Given the description of an element on the screen output the (x, y) to click on. 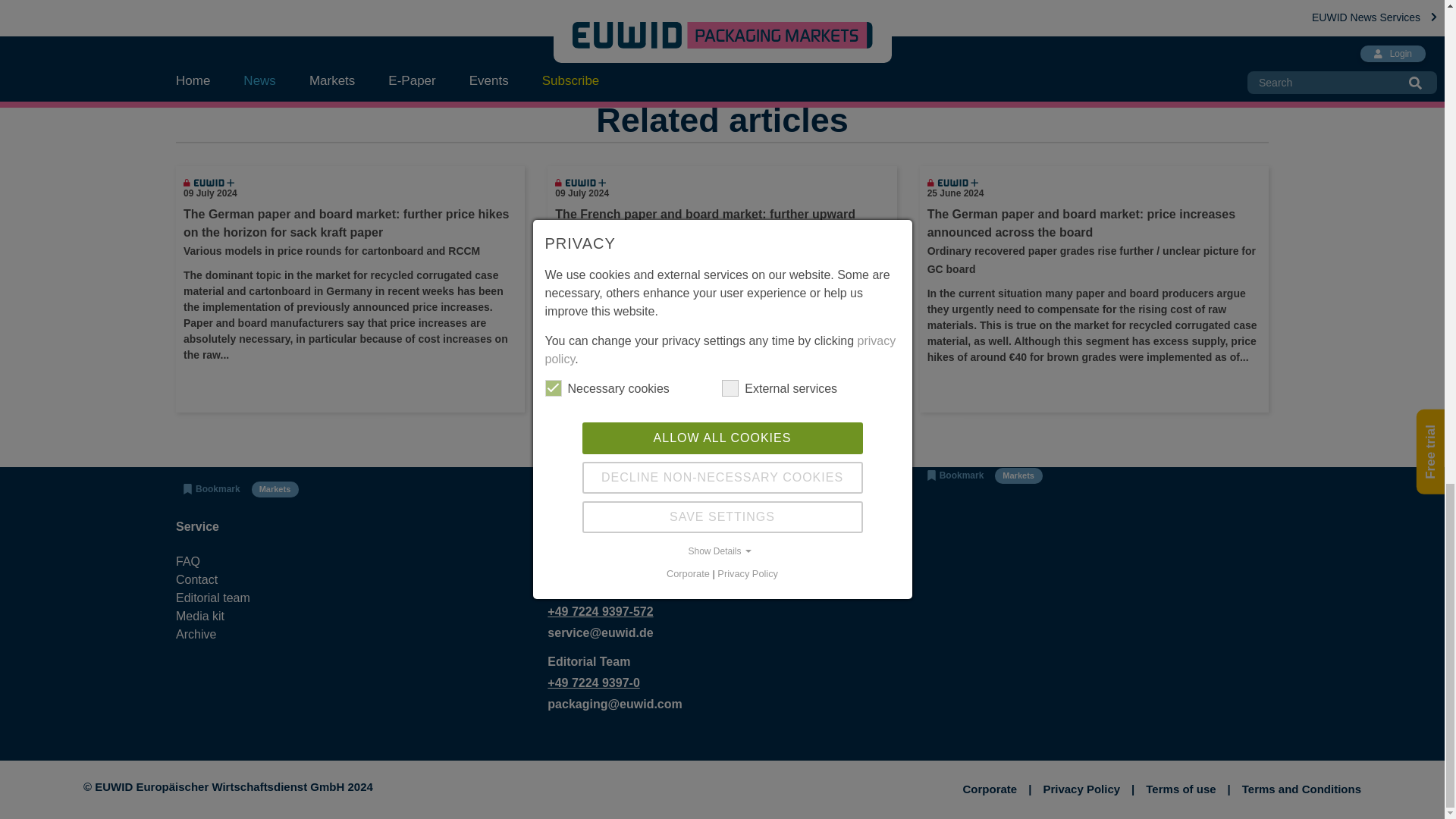
FAQ (226, 561)
Markets (208, 51)
Terms and Conditions (1301, 789)
Privacy Policy (1088, 789)
Cartonboard (384, 4)
Terms of use (1187, 789)
Editorial team (226, 597)
Contact (226, 579)
Corrugated case material (252, 4)
Archive (226, 634)
Corporate (996, 789)
Media kit (226, 616)
